Given the description of an element on the screen output the (x, y) to click on. 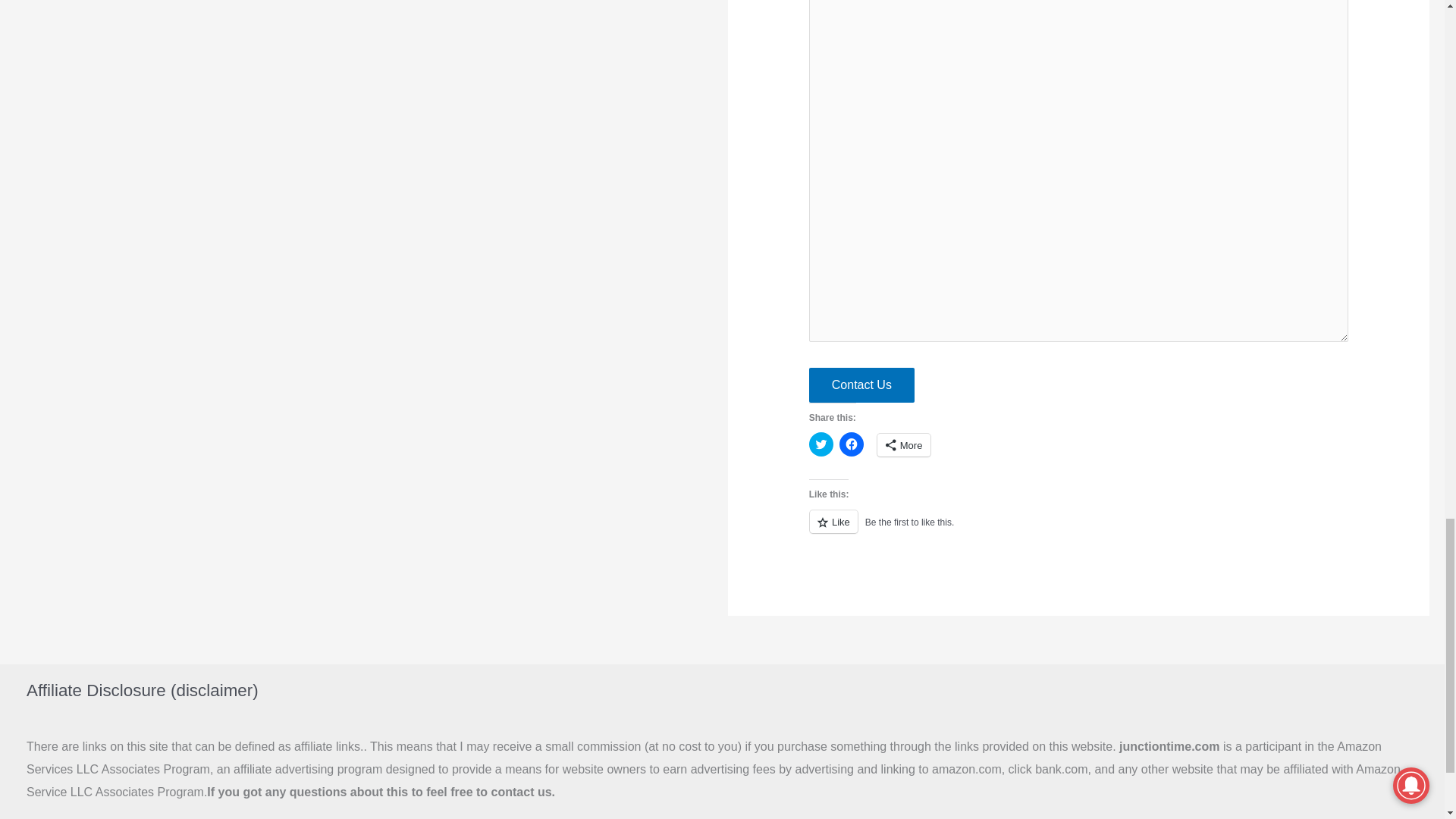
More (904, 445)
Like or Reblog (1079, 530)
Click to share on Twitter (820, 444)
Click to share on Facebook (851, 444)
Contact Us (861, 384)
